Given the description of an element on the screen output the (x, y) to click on. 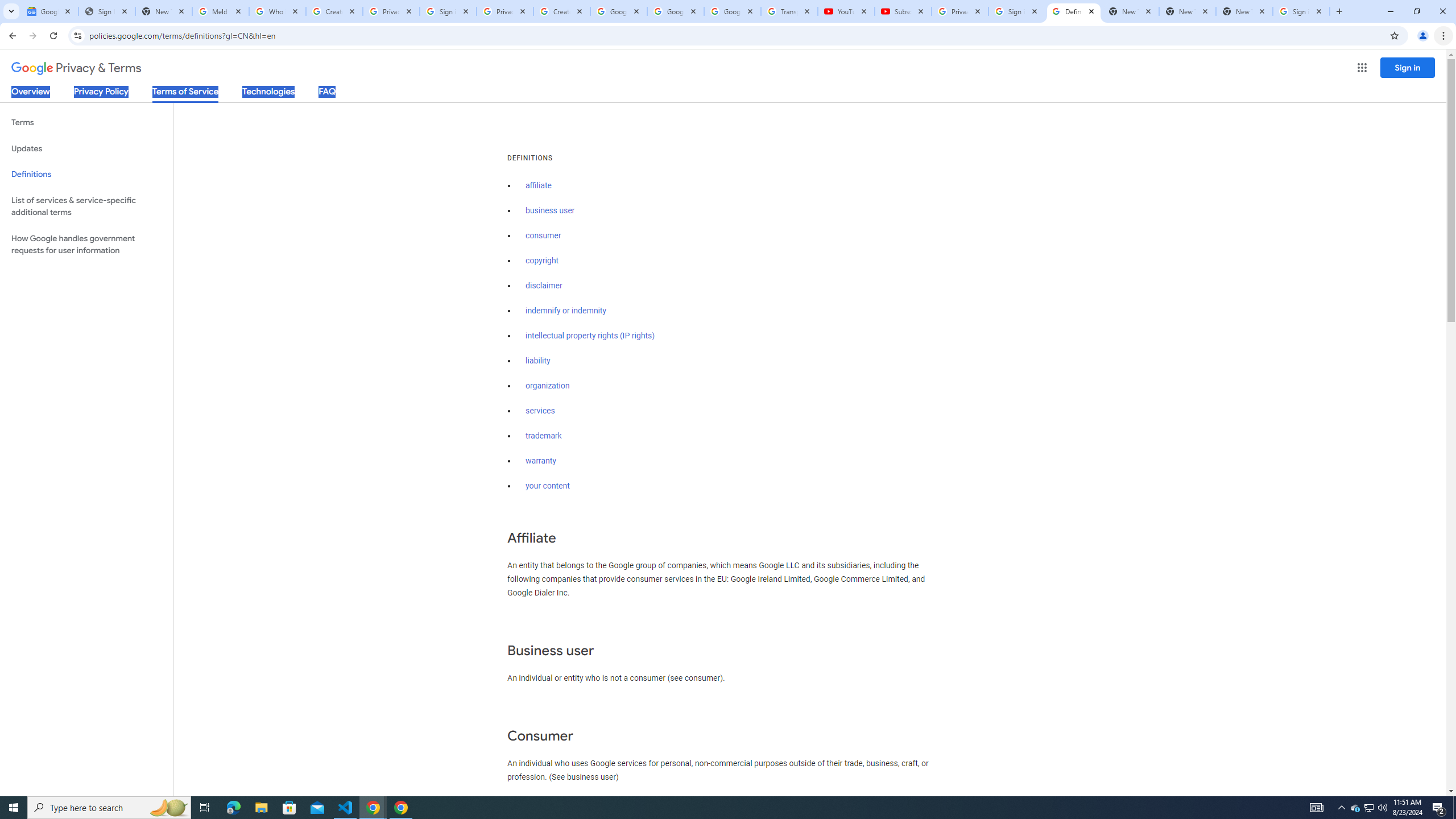
trademark (543, 435)
services (539, 411)
your content (547, 486)
consumer (543, 235)
How Google handles government requests for user information (86, 244)
disclaimer (543, 285)
